Given the description of an element on the screen output the (x, y) to click on. 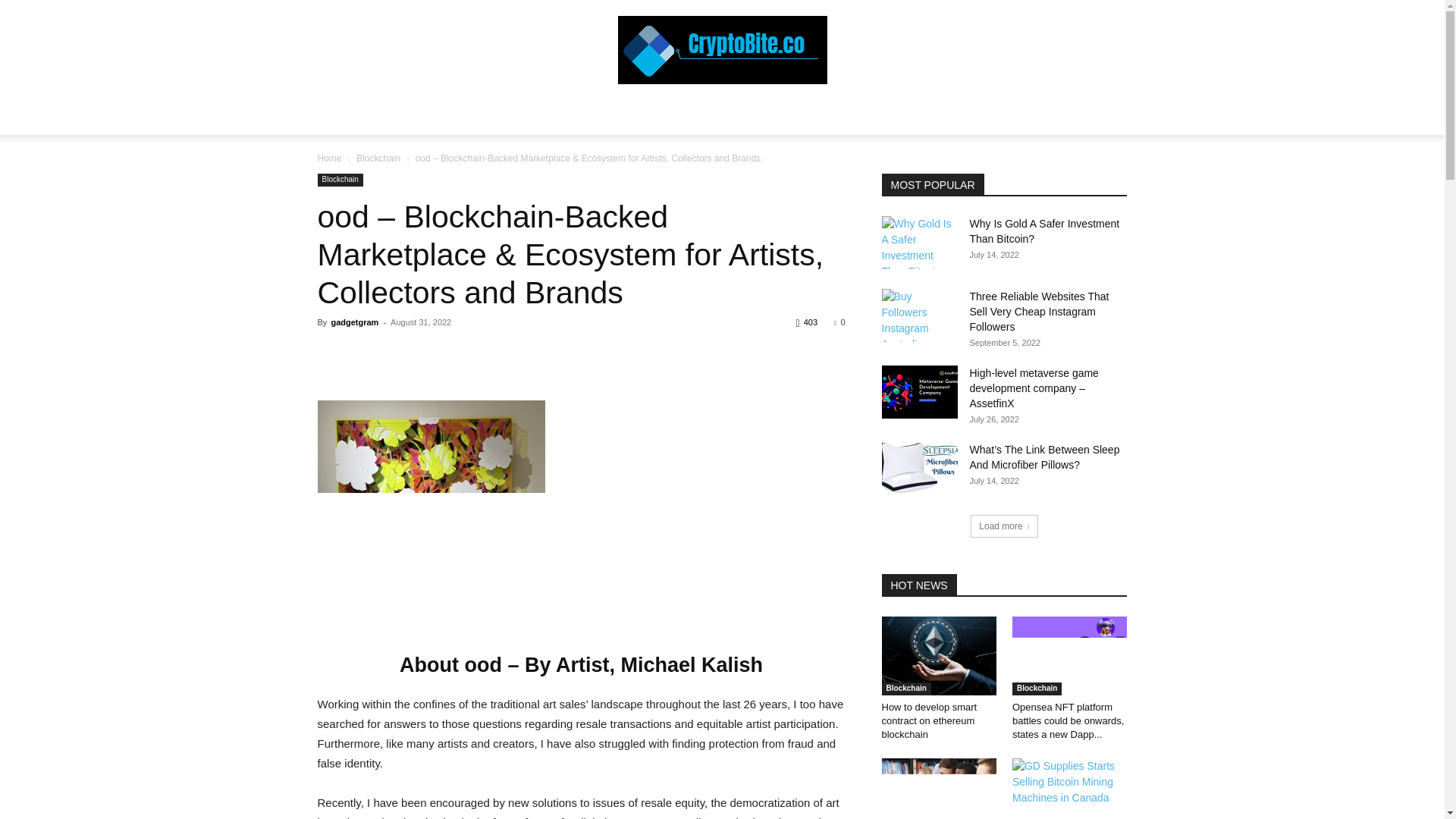
WRITE FOR US (959, 116)
gadgetgram (354, 321)
HOME (390, 116)
1.-ood-Blockchain-Backed-Marketplace-Ecosystem-1-300x300 (430, 514)
View all posts in Blockchain (378, 158)
ALTCOIN (698, 116)
CRYPTO WALLETS (606, 116)
Search (1085, 177)
BITCOIN (514, 116)
Blockchain (378, 158)
